Given the description of an element on the screen output the (x, y) to click on. 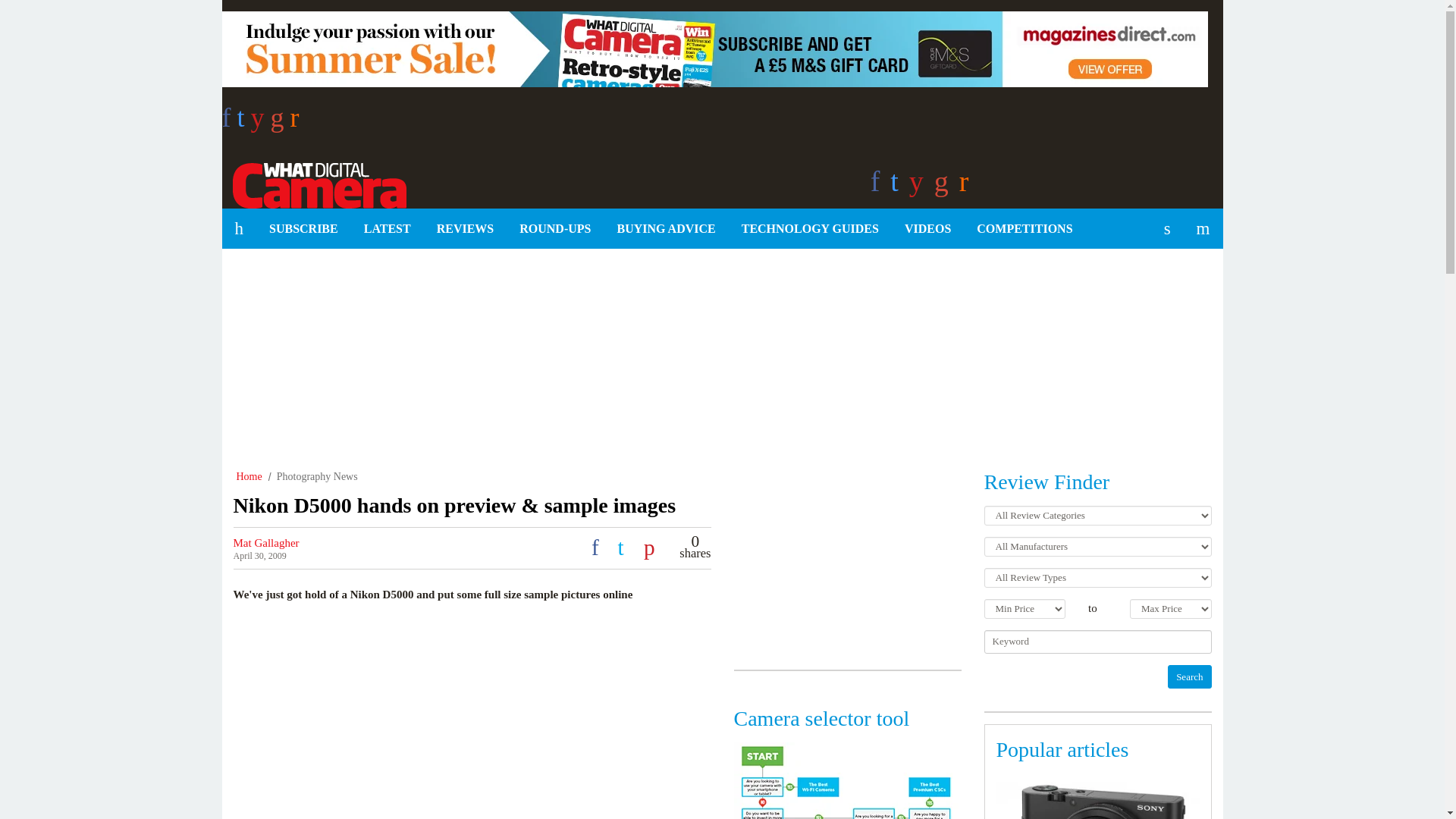
REVIEWS (464, 228)
What Digital Camera (313, 182)
y (260, 122)
f (228, 122)
LATEST (386, 228)
g (279, 122)
t (242, 122)
ROUND-UPS (555, 228)
BUYING ADVICE (666, 228)
Search (1189, 677)
What Digital Camera (313, 182)
Mat Gallagher's Profile (265, 542)
SUBSCRIBE (303, 228)
